Given the description of an element on the screen output the (x, y) to click on. 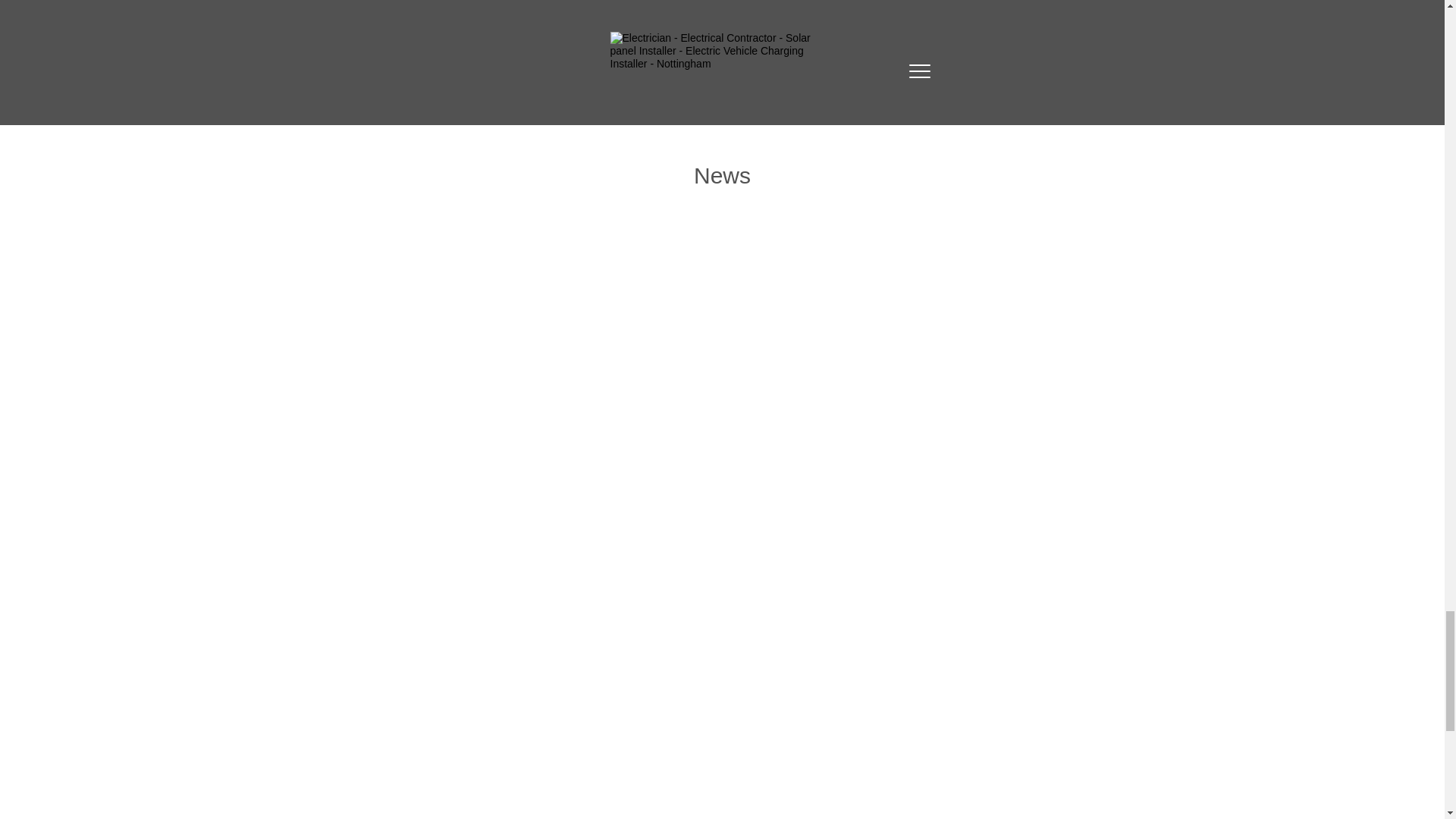
Embedded post (720, 332)
Submit (593, 24)
07944 756 886 (836, 8)
www.ne-electrical.com (863, 55)
